Given the description of an element on the screen output the (x, y) to click on. 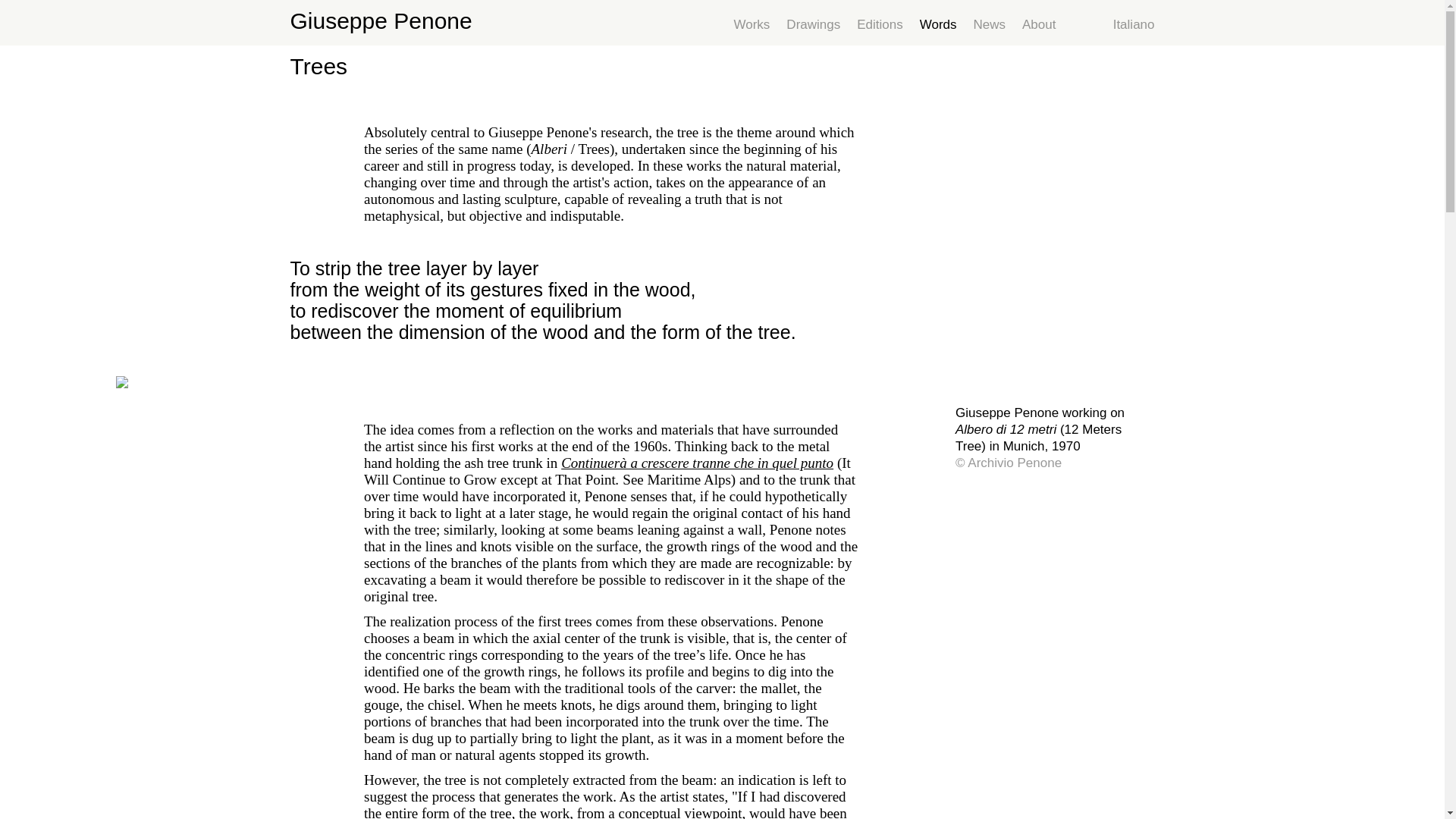
Drawings (813, 22)
Italiano (1133, 22)
Giuseppe Penone (380, 20)
Editions (879, 22)
